Given the description of an element on the screen output the (x, y) to click on. 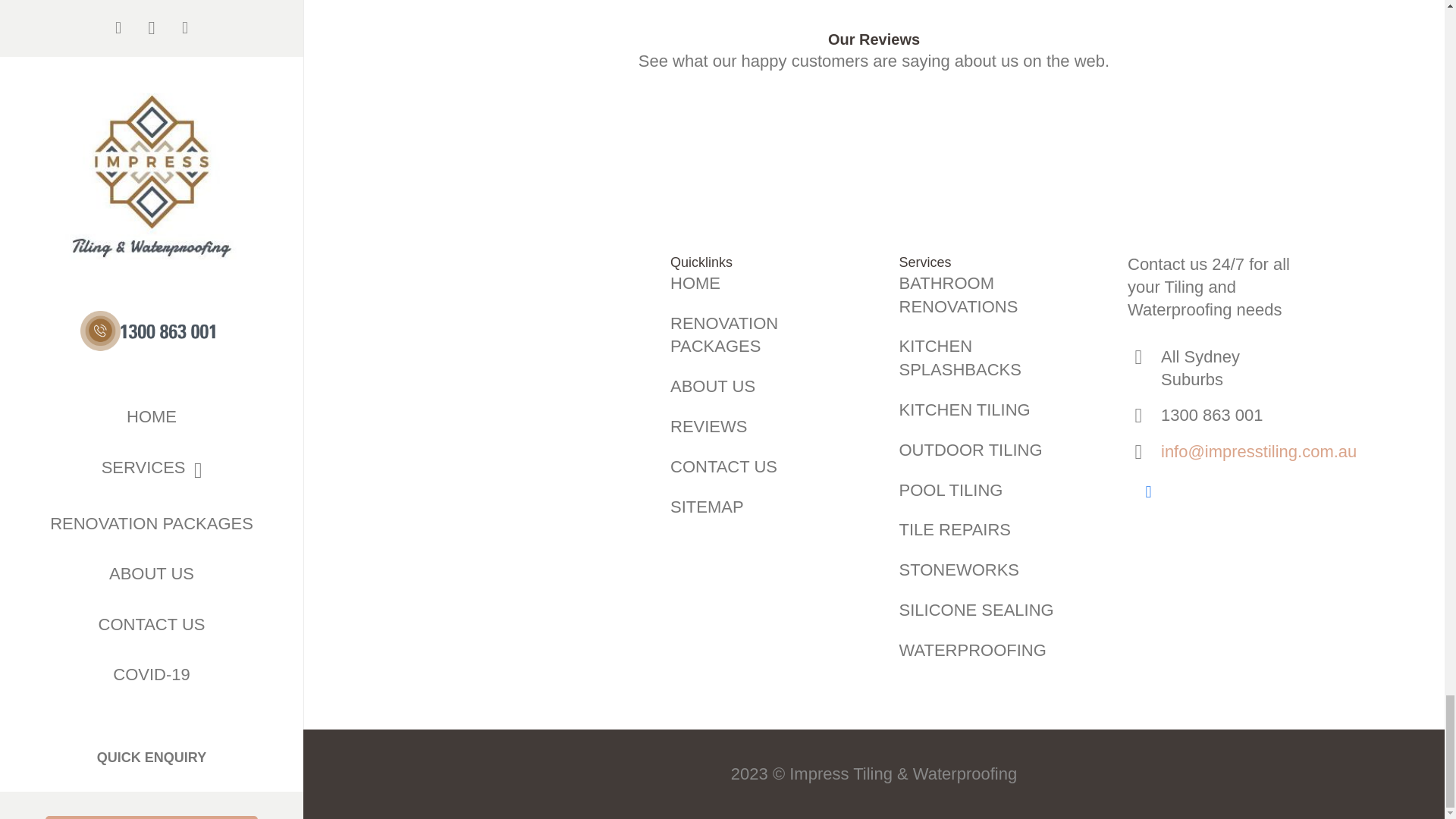
Facebook (1147, 491)
